Given the description of an element on the screen output the (x, y) to click on. 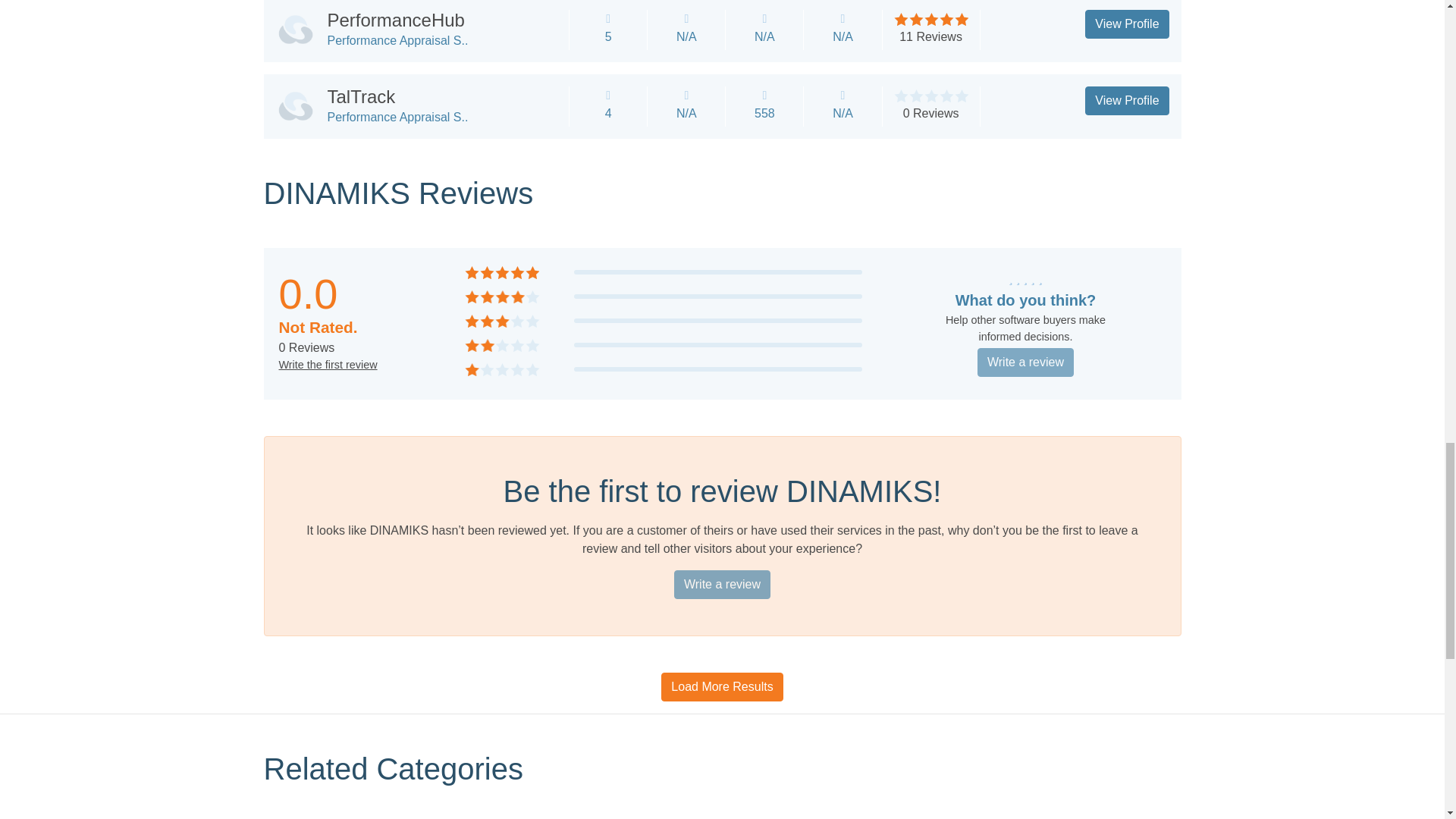
0 Reviews (930, 113)
11 Reviews (930, 36)
Write the first review (328, 364)
View Profile (1126, 100)
TalTrack (361, 96)
PerformanceHub (395, 19)
View Profile (1126, 23)
